Given the description of an element on the screen output the (x, y) to click on. 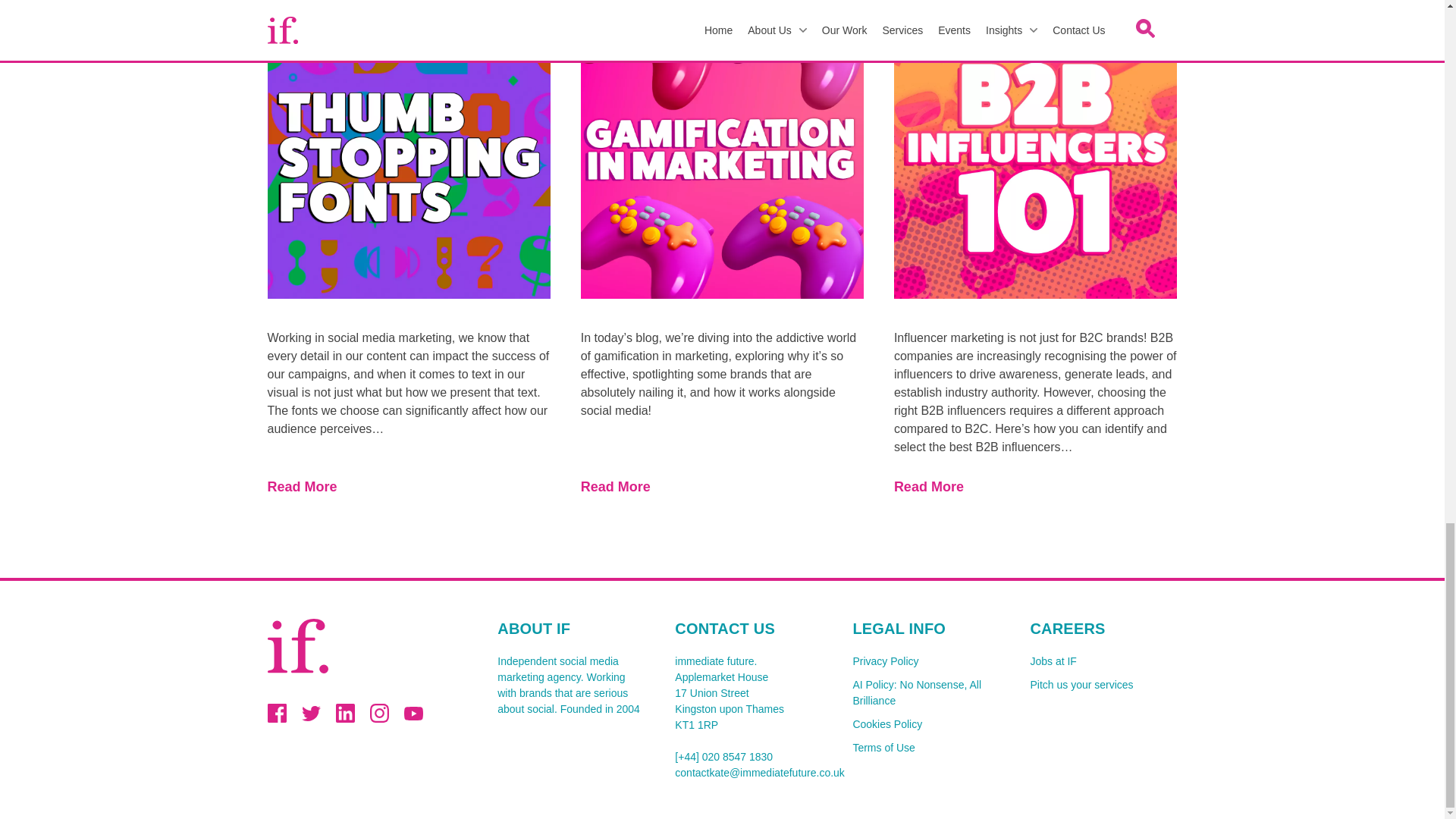
Read More (721, 486)
Read More (1034, 486)
Read More (408, 486)
